Given the description of an element on the screen output the (x, y) to click on. 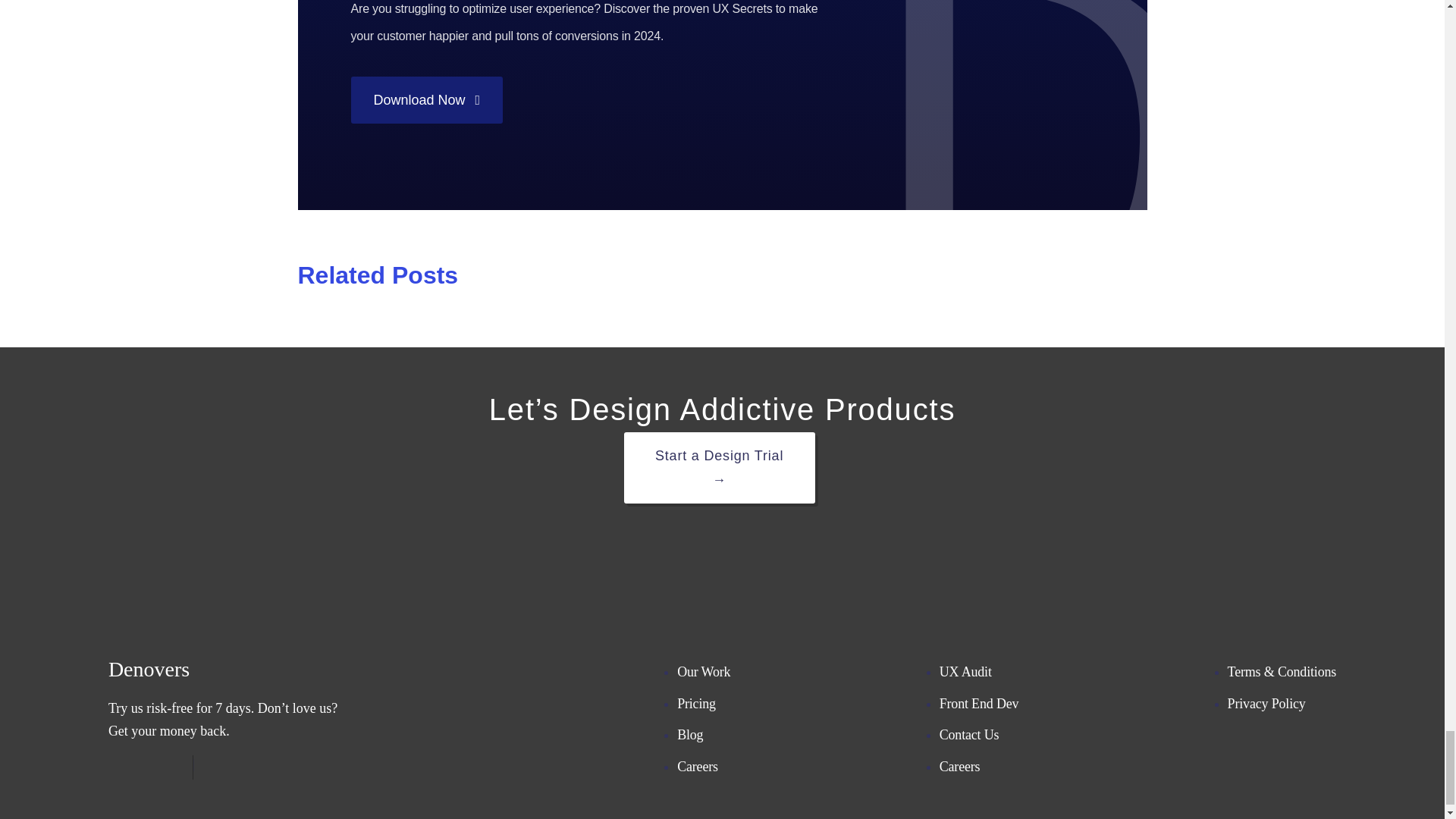
Our Work (703, 671)
Blog (690, 734)
Contact Us (968, 734)
Privacy Policy (1266, 703)
Careers (959, 766)
Download Now (426, 99)
Pricing (696, 703)
UX Audit (965, 671)
Front End Dev (979, 703)
Careers (697, 766)
